Given the description of an element on the screen output the (x, y) to click on. 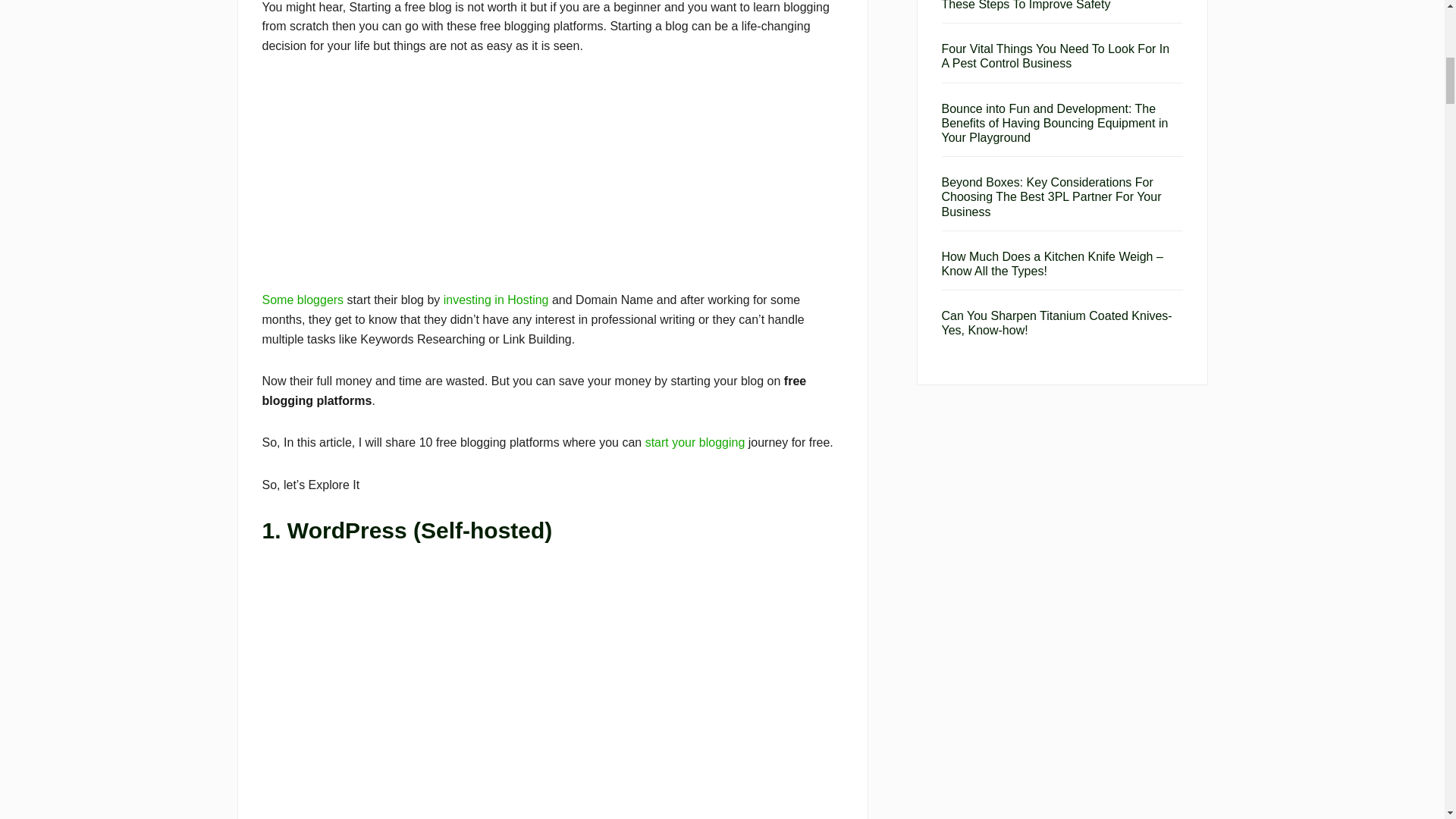
start your blogging (695, 441)
Advertisement (552, 183)
Some bloggers (302, 299)
investing in Hosting (496, 299)
